Given the description of an element on the screen output the (x, y) to click on. 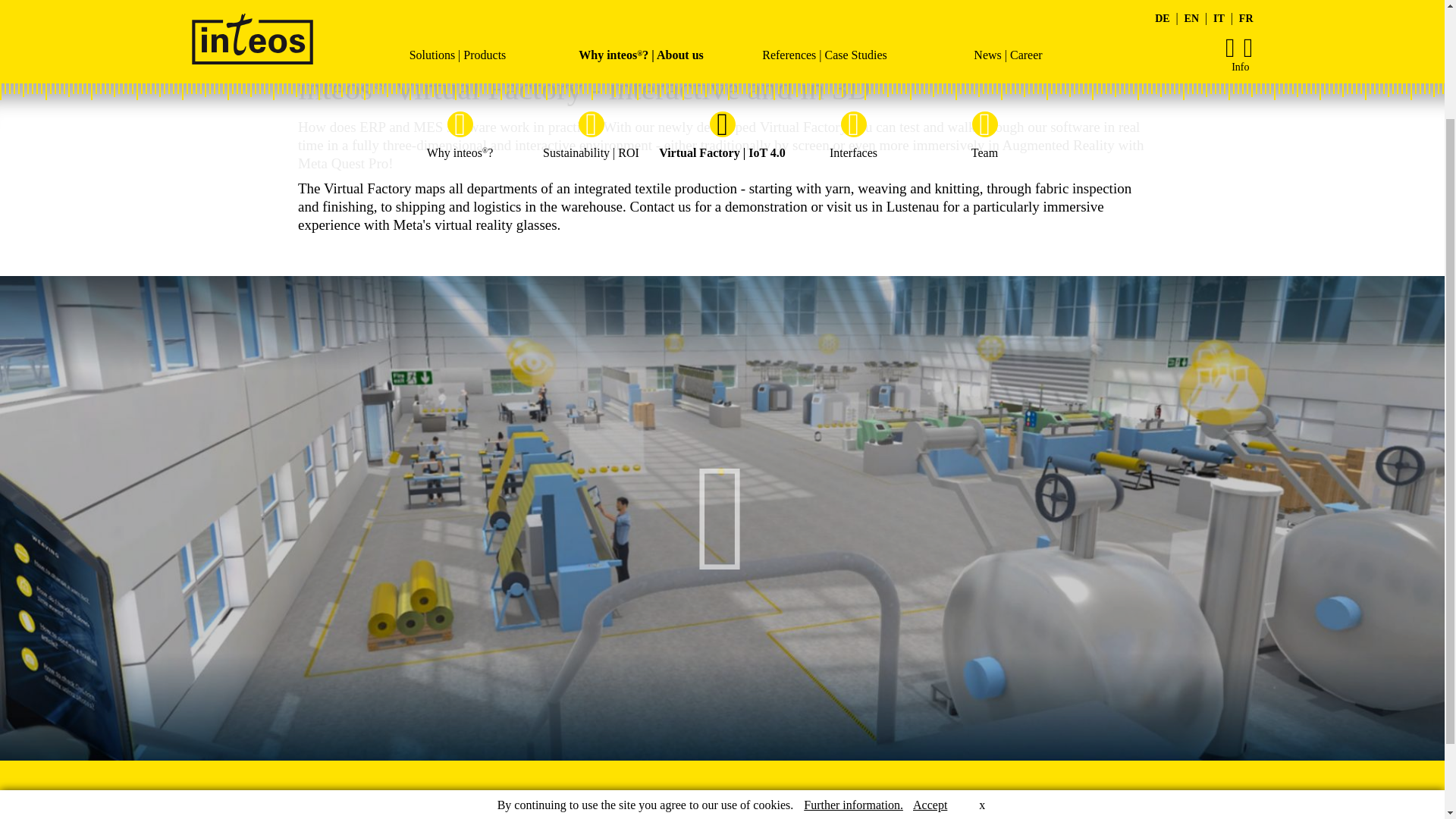
Interfaces (853, 11)
Interfaces (853, 11)
Team (984, 11)
